Given the description of an element on the screen output the (x, y) to click on. 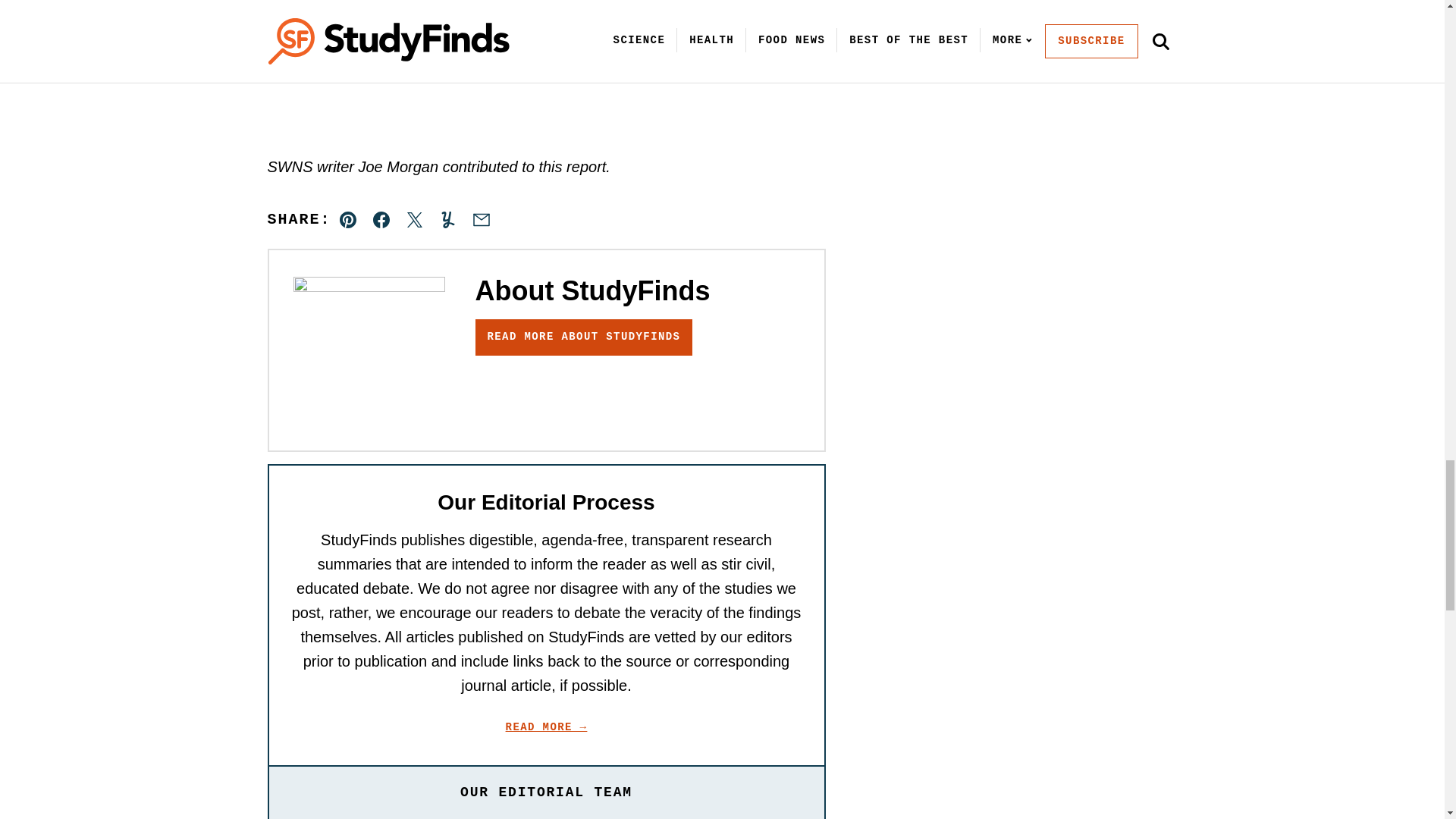
Share via Email (480, 219)
Share on Twitter (413, 219)
Share on Pinterest (348, 219)
Share on Yummly (447, 219)
Share on Facebook (381, 219)
